Given the description of an element on the screen output the (x, y) to click on. 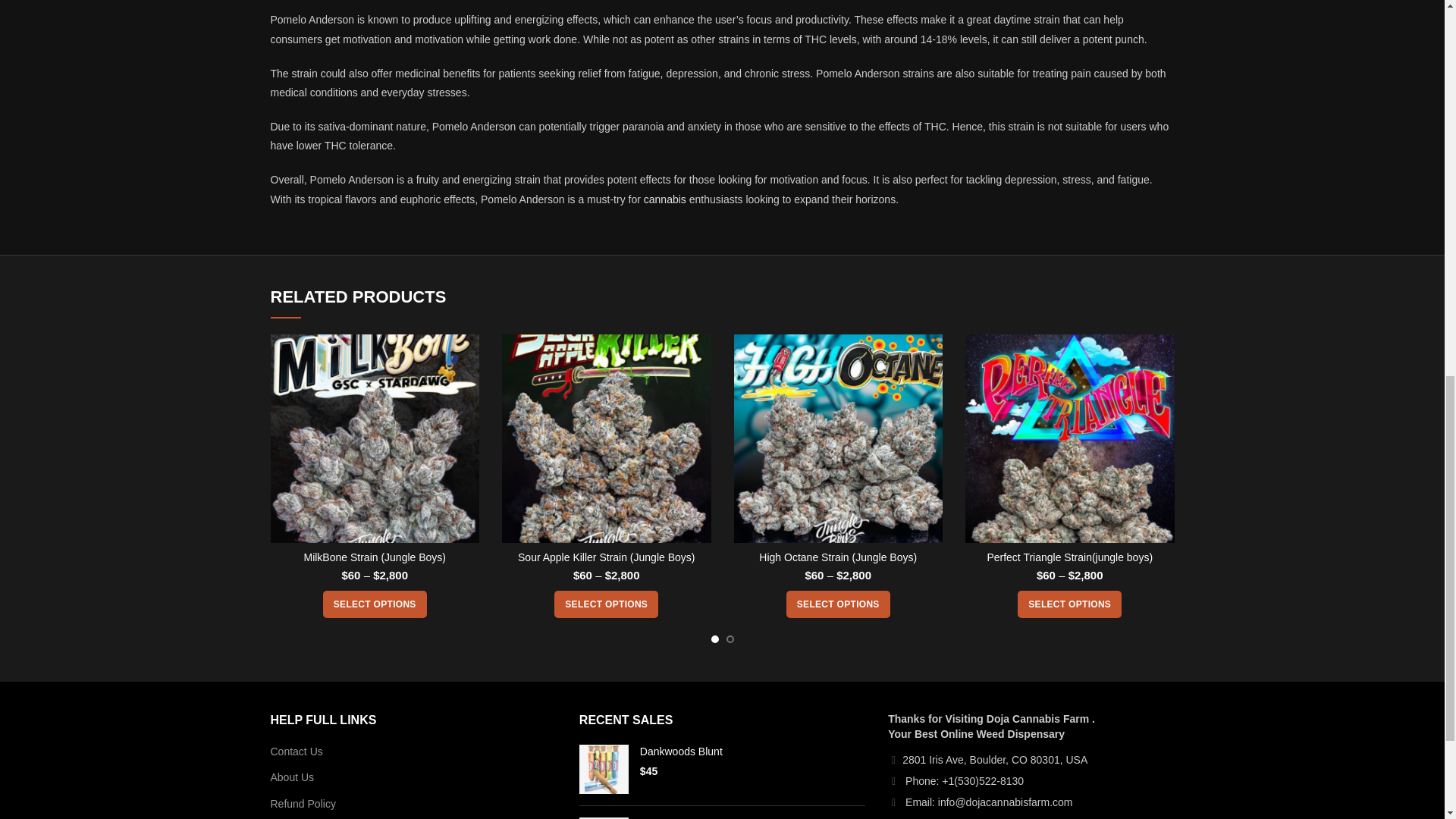
Zkittlez Cake (603, 818)
Dankwoods Blunt (752, 751)
Dankwoods Blunt (603, 768)
